Given the description of an element on the screen output the (x, y) to click on. 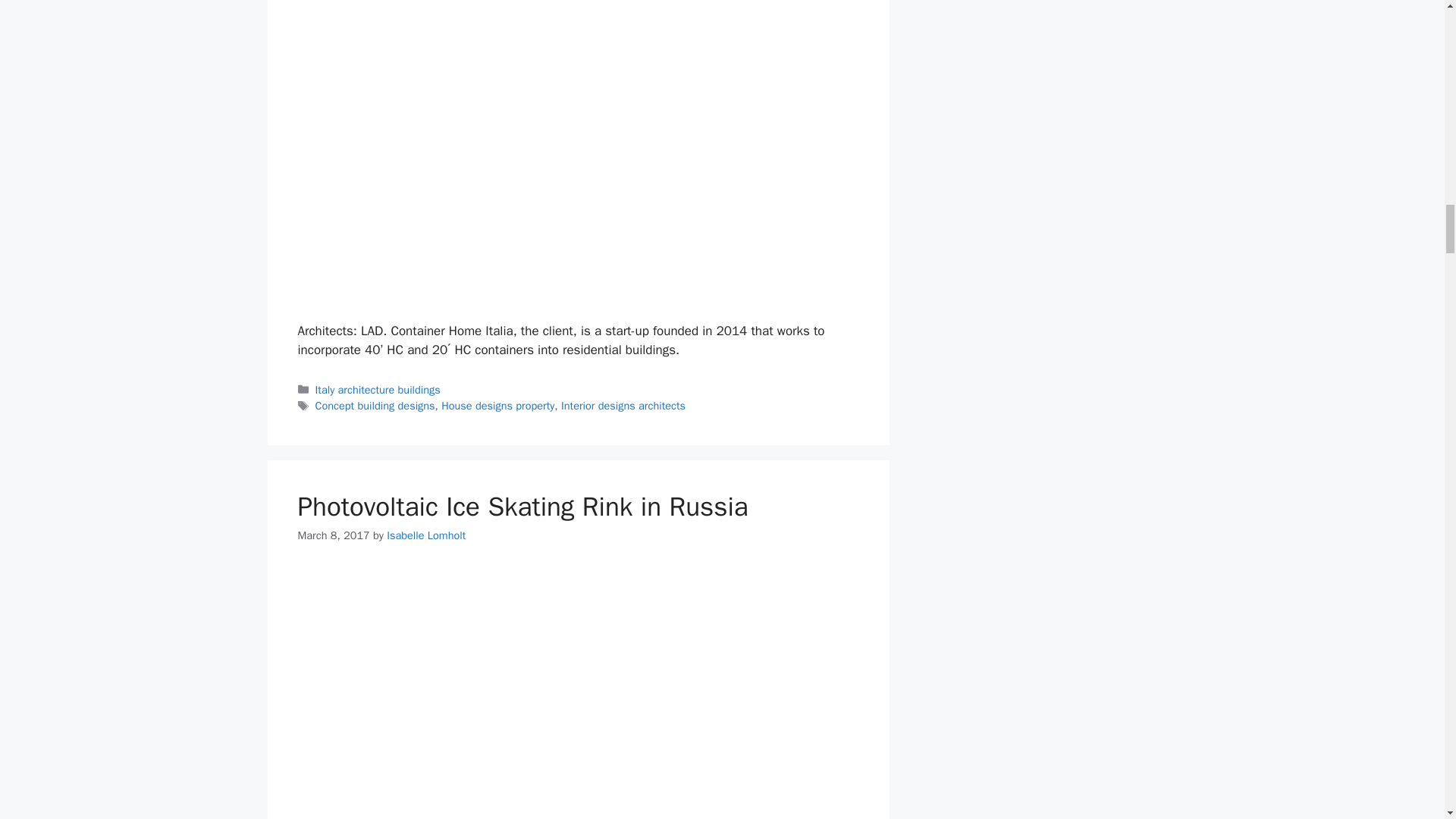
View all posts by Isabelle Lomholt (426, 535)
